Given the description of an element on the screen output the (x, y) to click on. 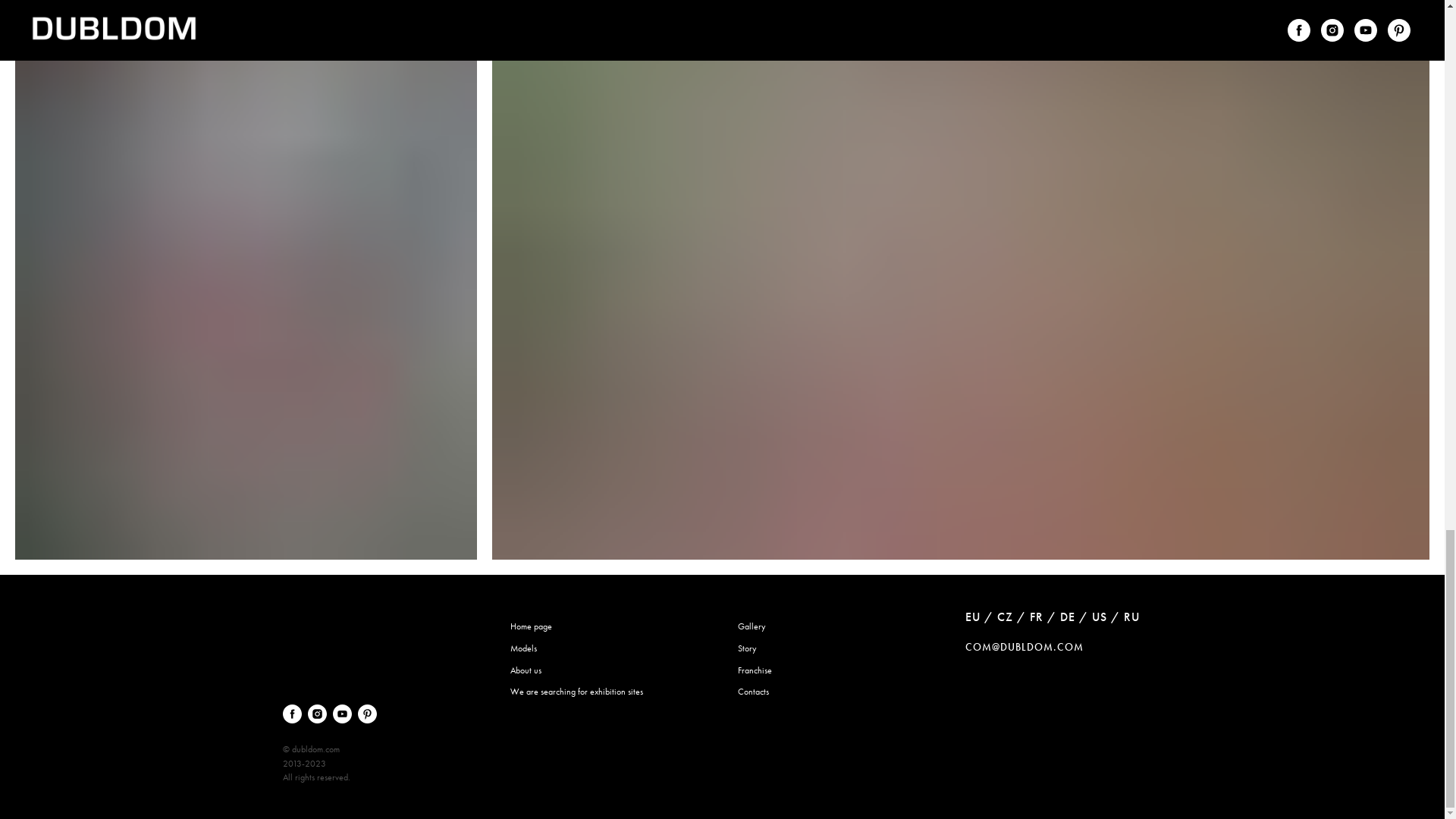
Models (522, 648)
About us (524, 670)
Home page (530, 625)
We are searching for exhibition sites (575, 691)
